Given the description of an element on the screen output the (x, y) to click on. 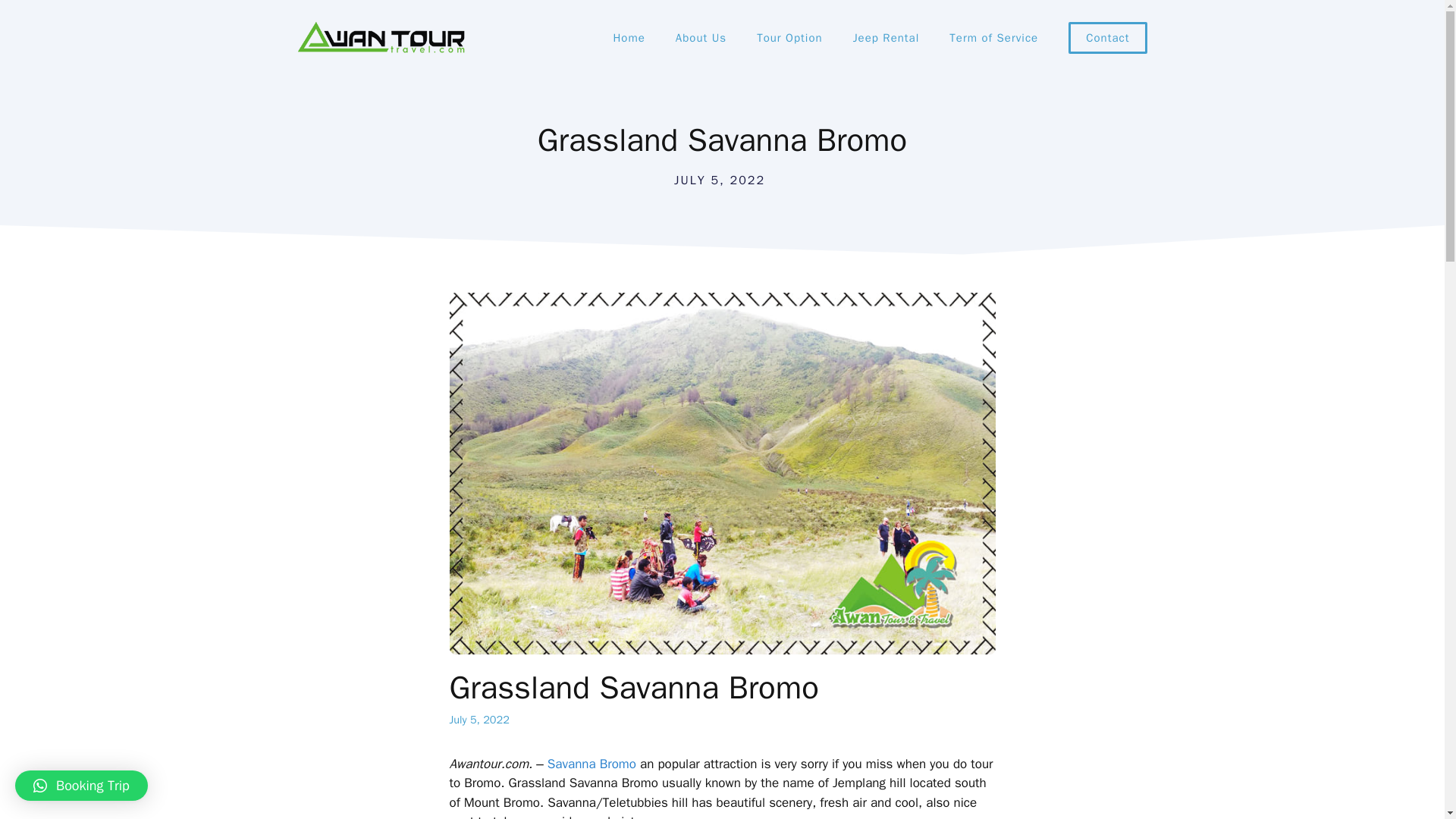
About Us (701, 37)
Jeep Rental (886, 37)
Contact (1107, 38)
Savanna Bromo (591, 763)
Term of Service (993, 37)
Home (627, 37)
Tour Option (789, 37)
